Given the description of an element on the screen output the (x, y) to click on. 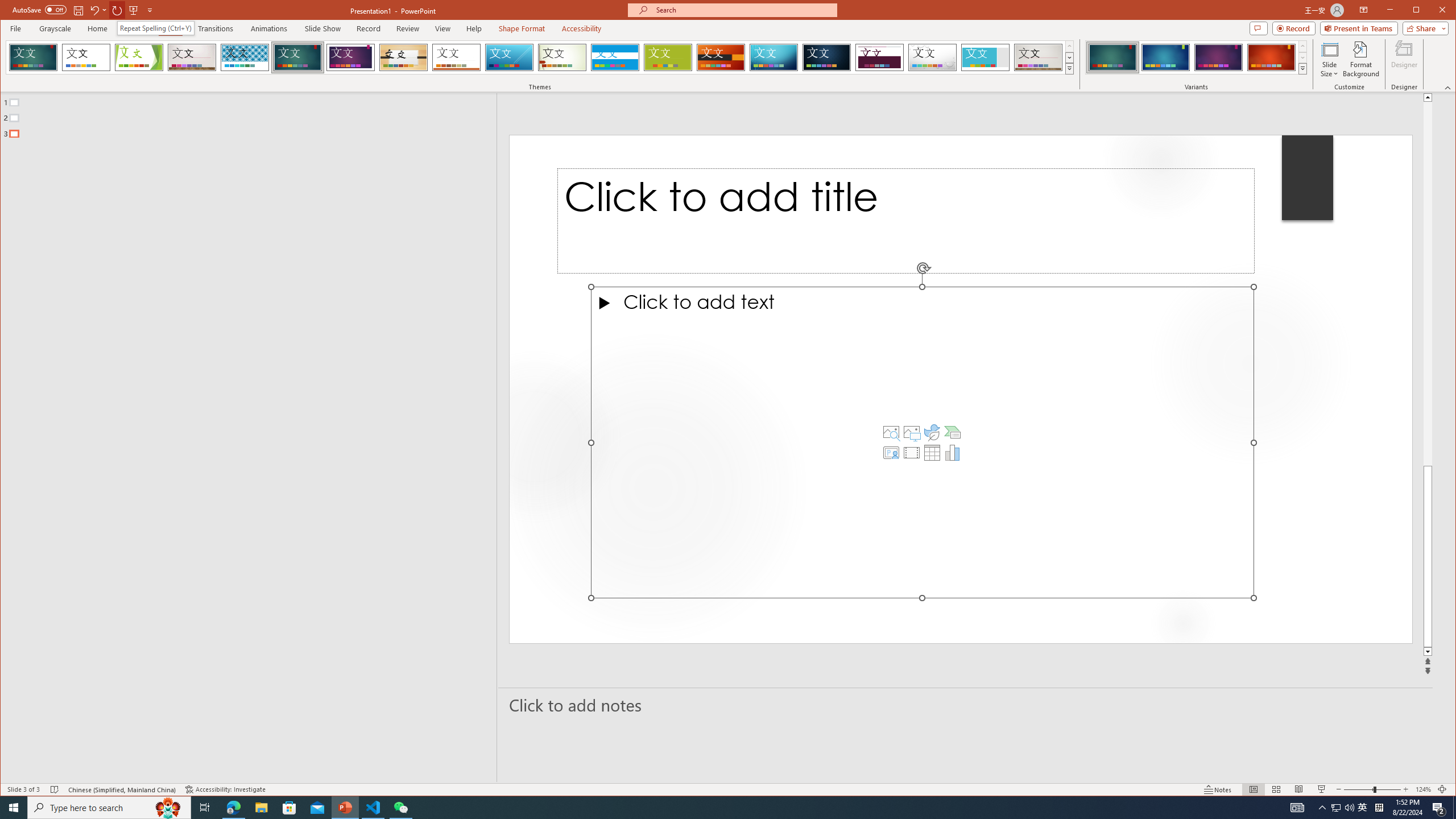
Grayscale (55, 28)
Insert a SmartArt Graphic (952, 432)
Page up (1427, 283)
Shape Format (521, 28)
Integral (244, 57)
